Given the description of an element on the screen output the (x, y) to click on. 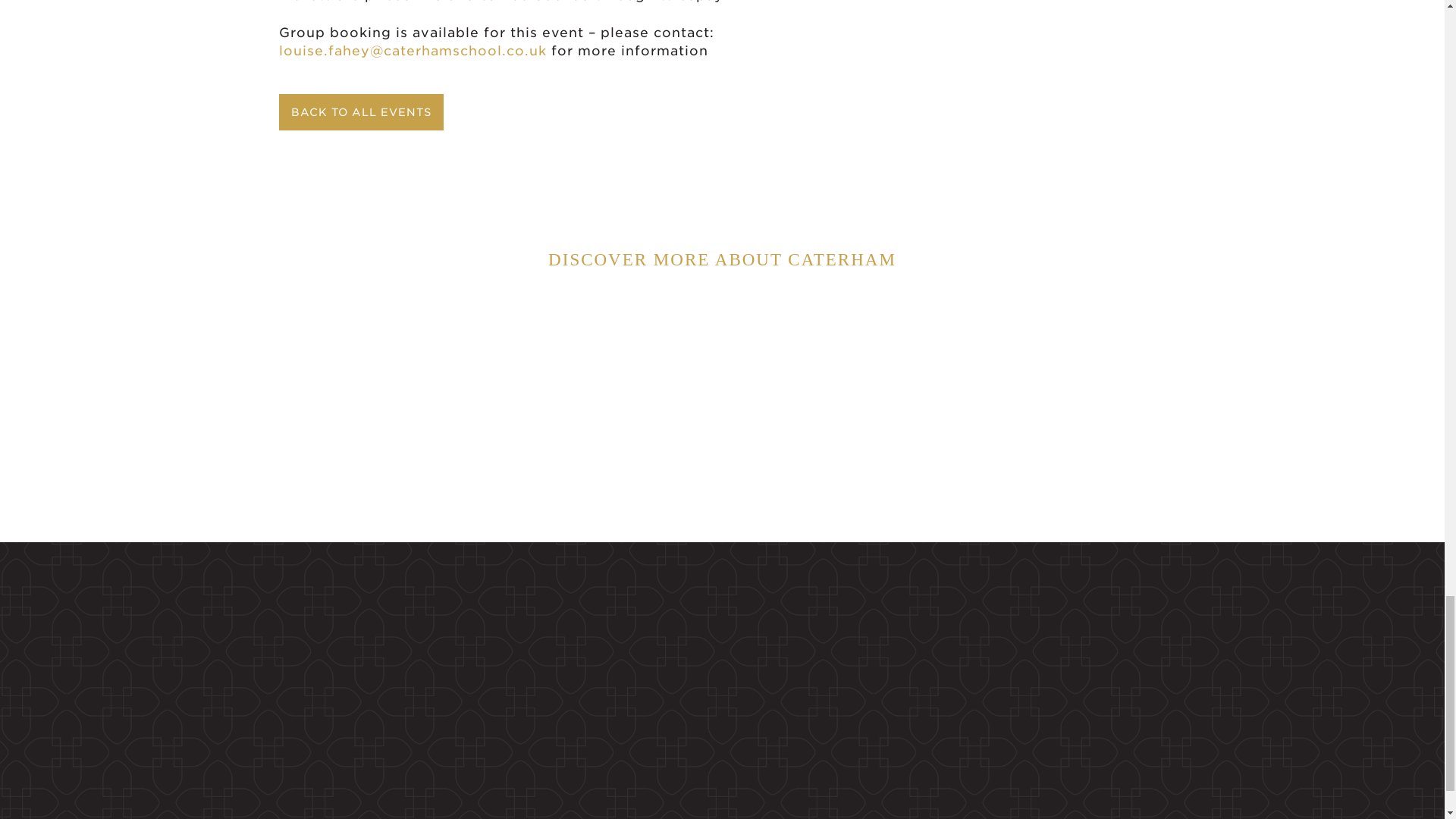
BACK TO ALL EVENTS (360, 112)
